Given the description of an element on the screen output the (x, y) to click on. 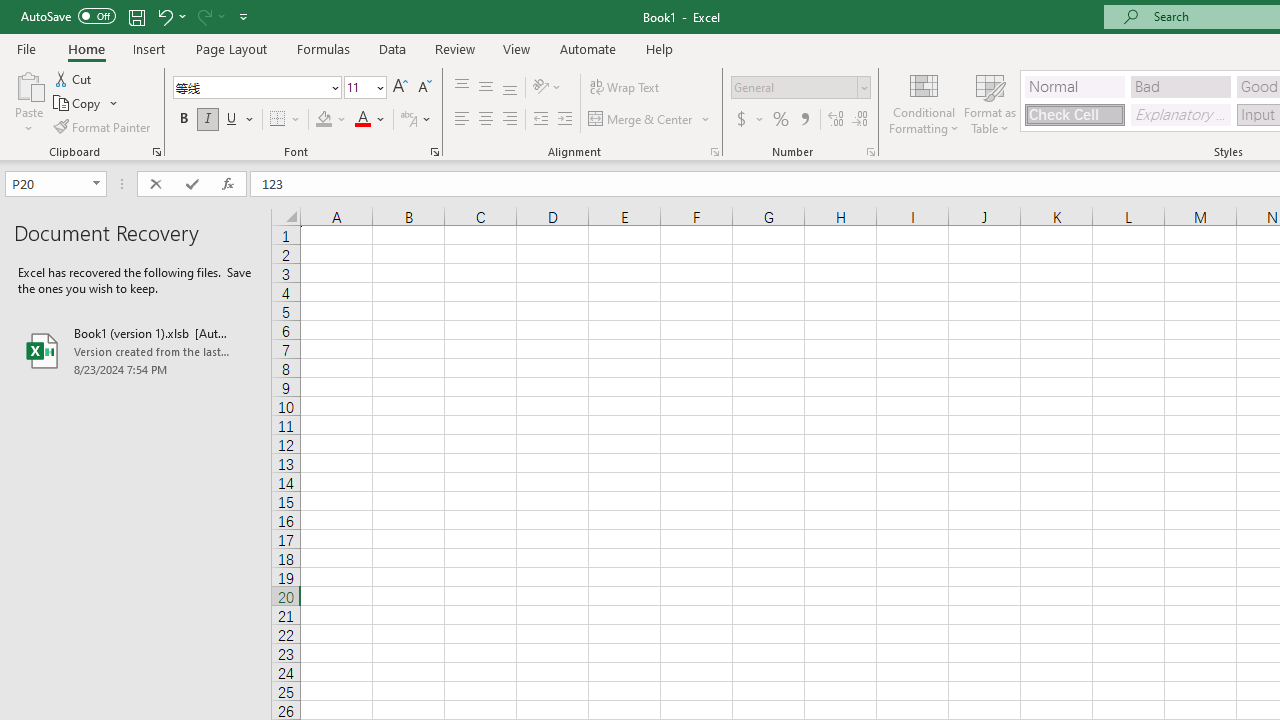
Align Left (461, 119)
Customize Quick Access Toolbar (244, 15)
Save (136, 15)
Merge & Center (641, 119)
Review (454, 48)
Font Size (358, 87)
Copy (78, 103)
Number Format (794, 87)
Increase Decimal (836, 119)
Explanatory Text (1180, 114)
Check Cell (1074, 114)
Paste (28, 102)
Conditional Formatting (924, 102)
Font Size (365, 87)
